Given the description of an element on the screen output the (x, y) to click on. 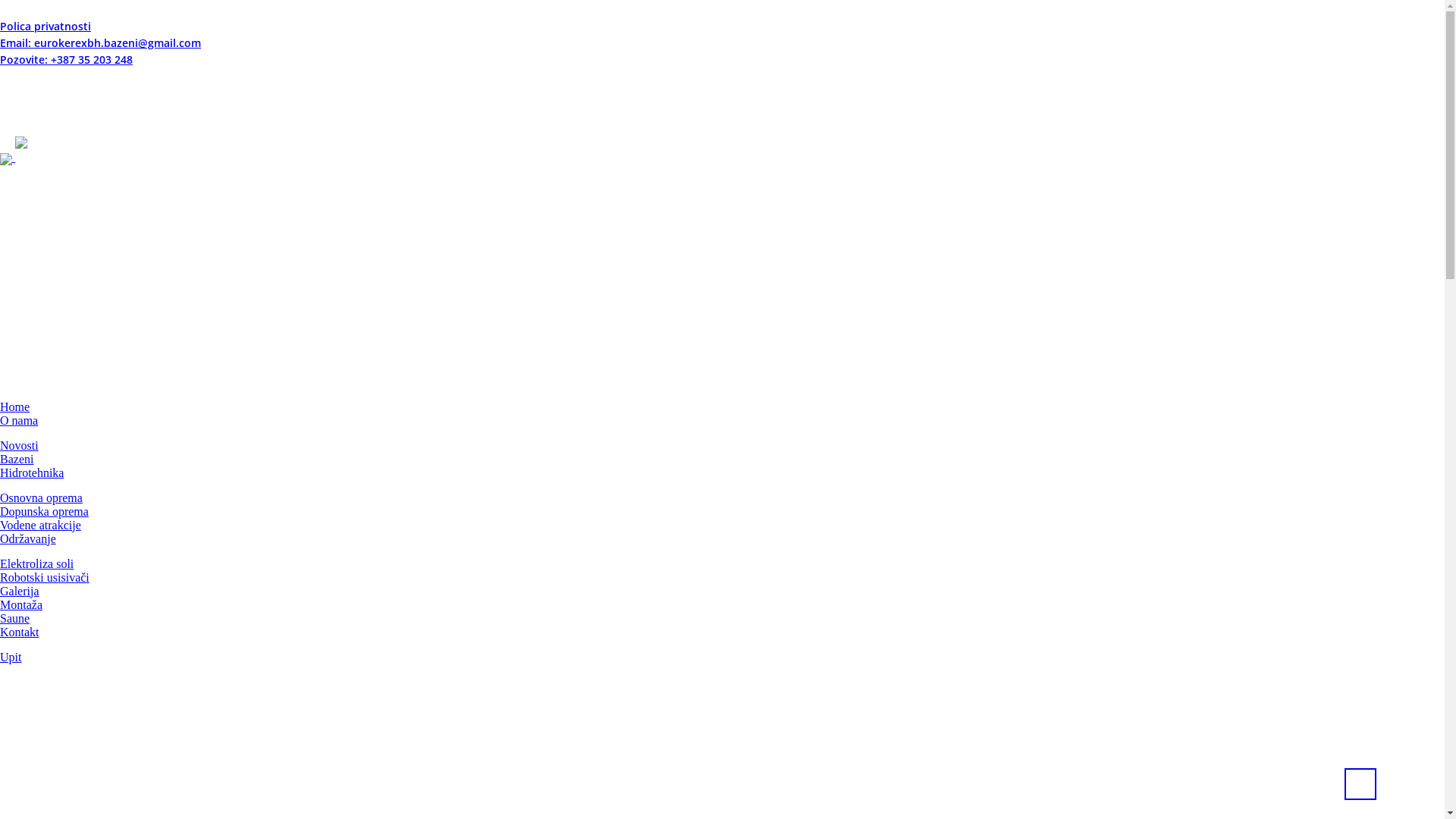
Pozovite: +387 35 203 248 Element type: text (66, 59)
Novosti Element type: text (19, 444)
Eurokerex BH Element type: hover (64, 156)
O nama Element type: text (18, 420)
Kontakt Element type: text (19, 630)
Vodene atrakcije Element type: text (40, 524)
Elektroliza soli Element type: text (36, 562)
Osnovna oprema Element type: text (41, 497)
Hidrotehnika Element type: text (31, 471)
Saune Element type: text (14, 617)
Polica privatnosti Element type: text (45, 25)
Email: eurokerexbh.bazeni@gmail.com Element type: text (100, 42)
Upit Element type: text (10, 656)
Home Element type: text (14, 406)
Bazeni Element type: text (16, 457)
Galerija Element type: text (19, 589)
Dopunska oprema Element type: text (44, 511)
